Given the description of an element on the screen output the (x, y) to click on. 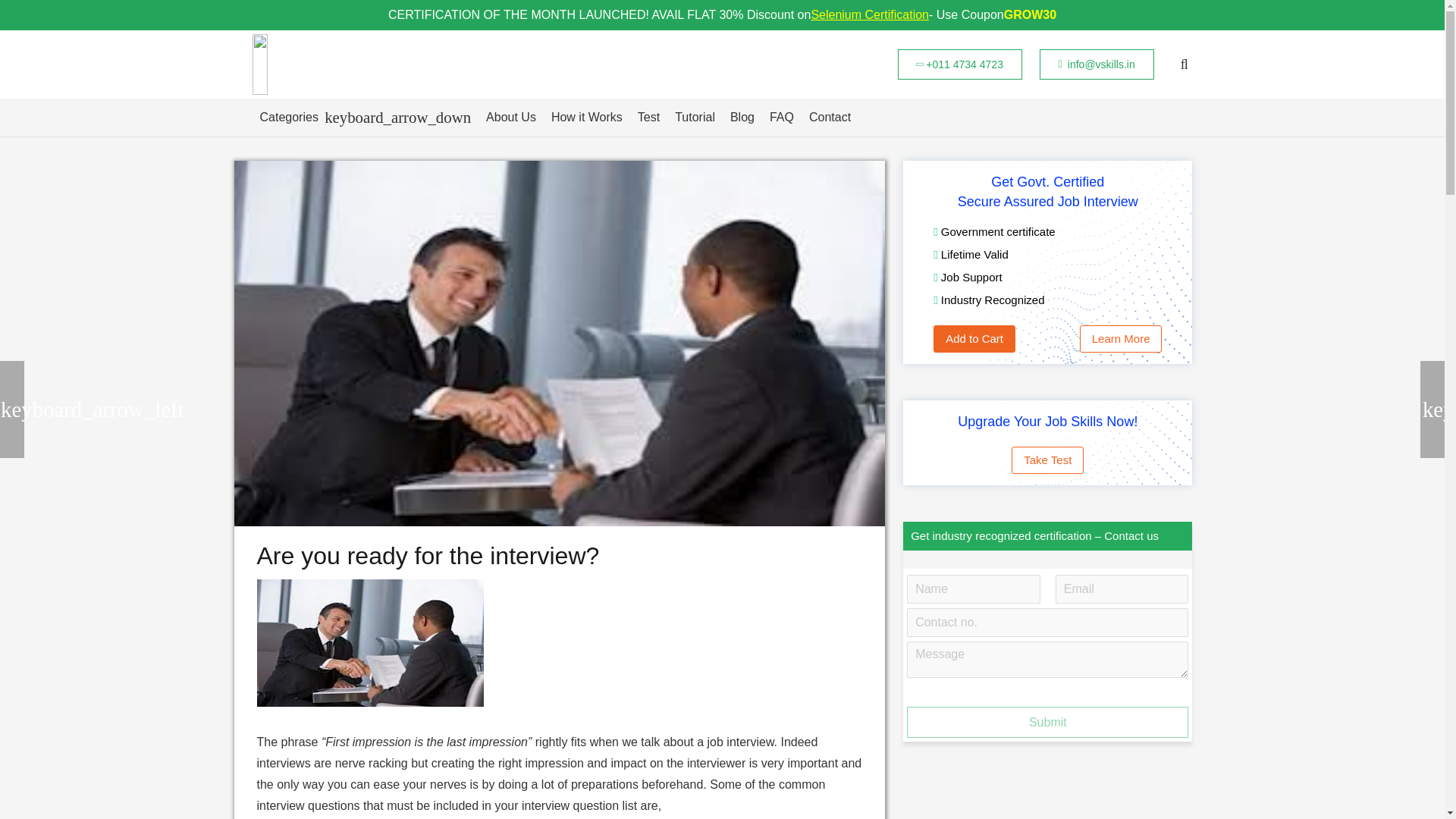
Selenium Certification (869, 14)
Categories (365, 117)
